Given the description of an element on the screen output the (x, y) to click on. 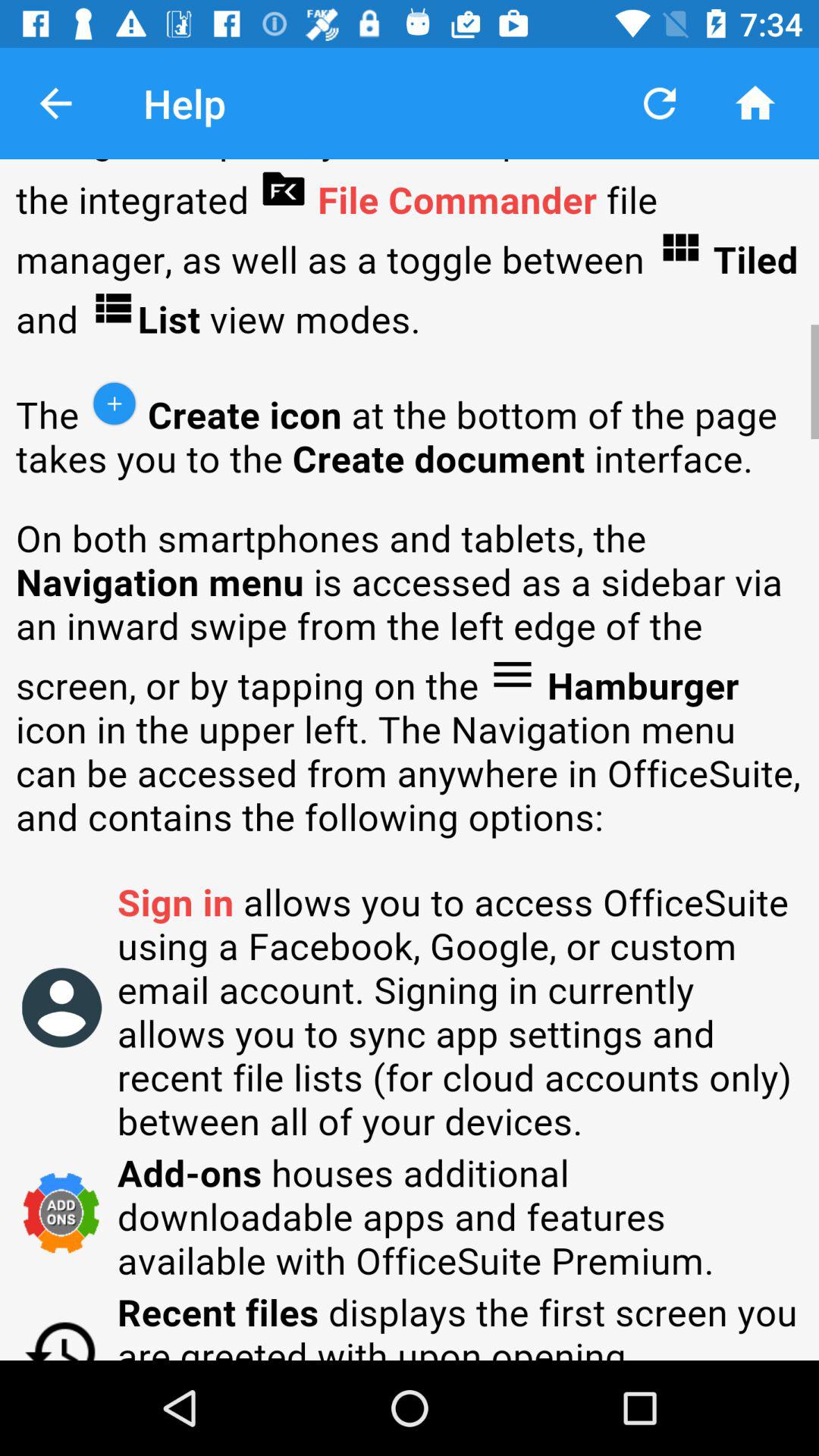
go to previous (55, 103)
